Given the description of an element on the screen output the (x, y) to click on. 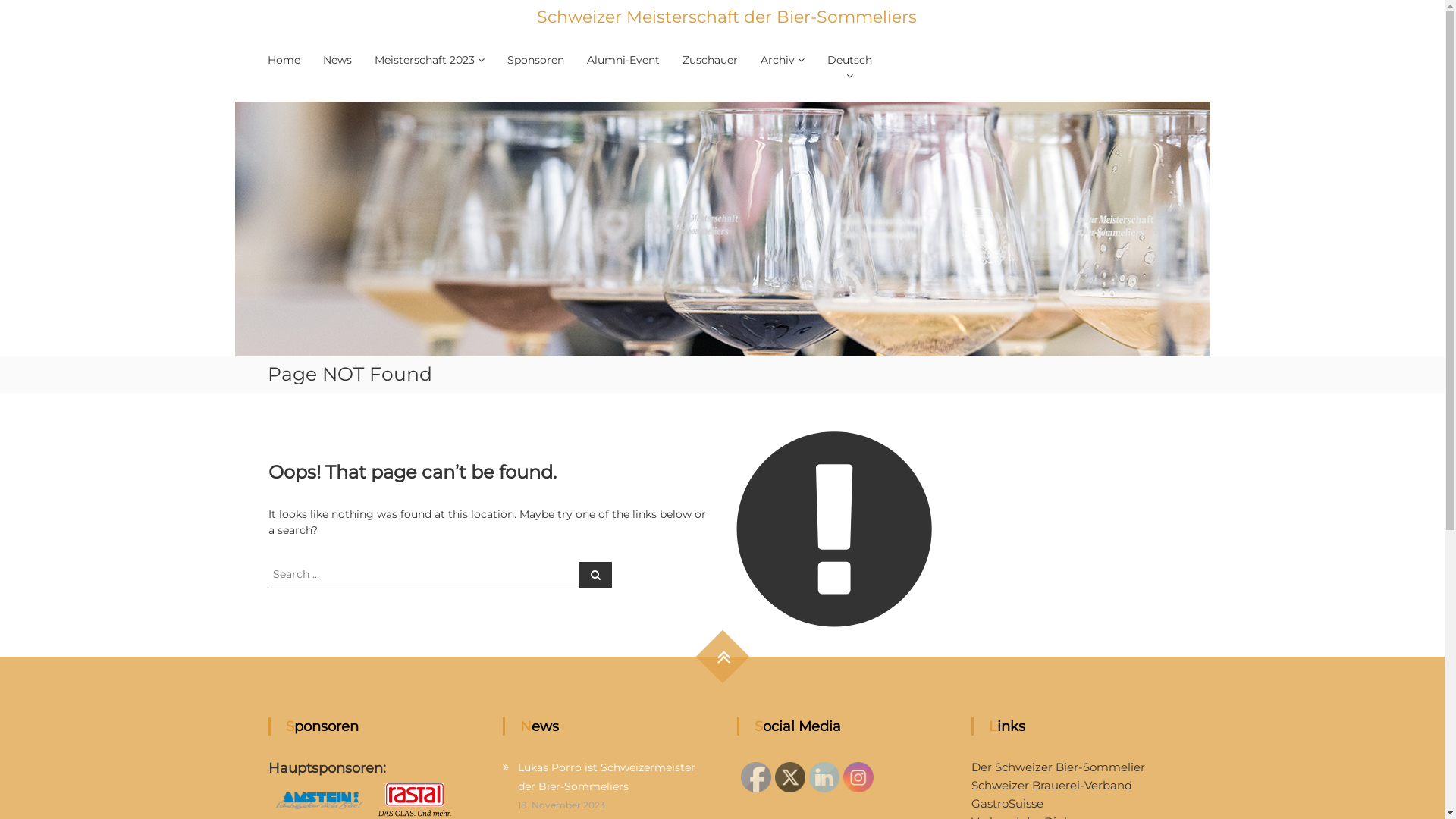
Sponsoren Element type: text (534, 59)
Instagram Element type: hover (858, 776)
LINKEDIN Element type: hover (824, 776)
Search Element type: text (595, 573)
Lukas Porro ist Schweizermeister der Bier-Sommeliers Element type: text (606, 775)
Schweizer Brauerei-Verband Element type: text (1051, 785)
Deutsch Element type: text (848, 60)
Der Schweizer Bier-Sommelier Element type: text (1058, 766)
Archiv Element type: text (776, 59)
Home Element type: text (282, 59)
News Element type: text (337, 59)
Schweizer Meisterschaft der Bier-Sommeliers Element type: text (726, 16)
Twitter Element type: hover (790, 776)
Zuschauer Element type: text (709, 59)
Meisterschaft 2023 Element type: text (424, 59)
Facebook Element type: hover (755, 776)
Alumni-Event Element type: text (622, 59)
GastroSuisse Element type: text (1007, 803)
